Given the description of an element on the screen output the (x, y) to click on. 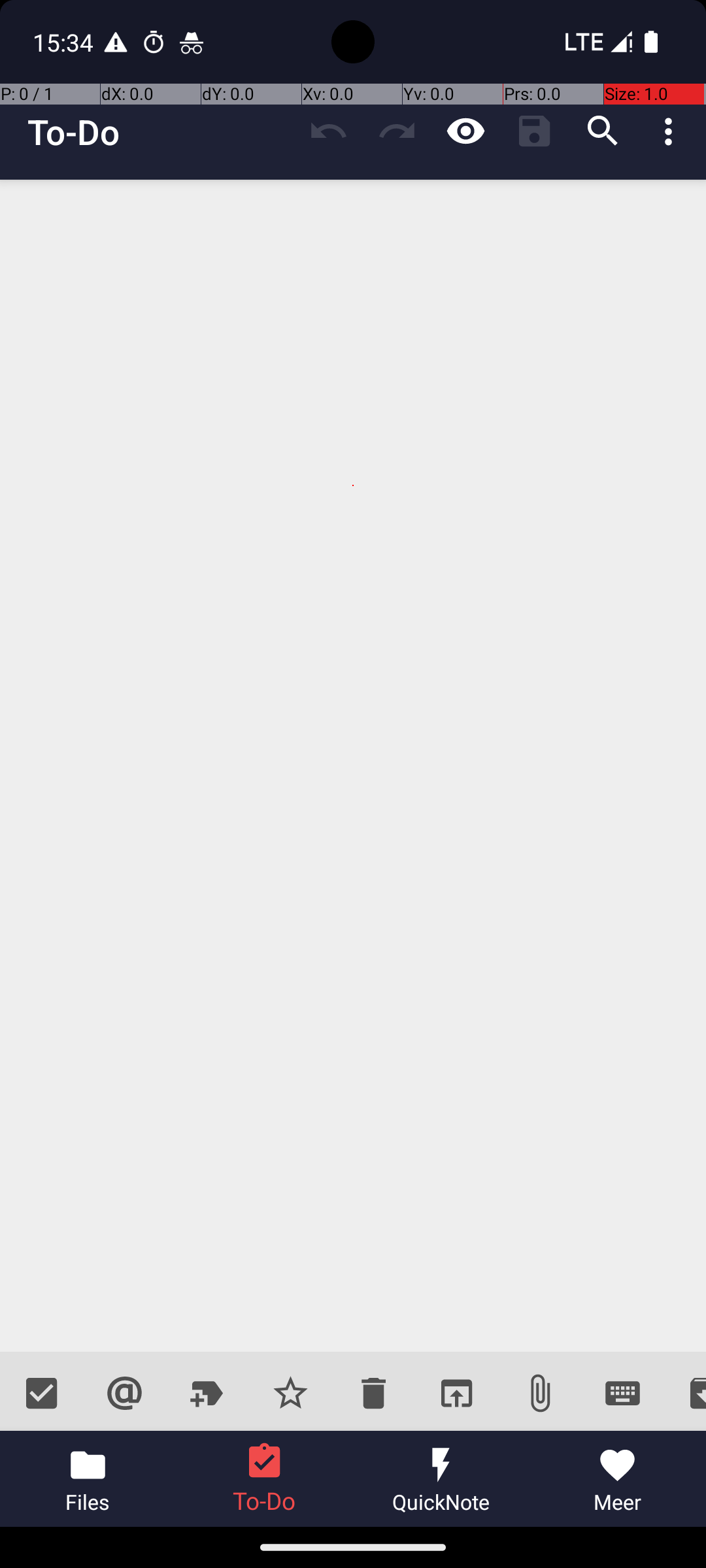
Soek Element type: android.widget.TextView (602, 131)
Meer opsies Element type: android.widget.ImageView (671, 131)
Meer Element type: android.widget.FrameLayout (617, 1478)
Toggle done Element type: android.widget.ImageView (41, 1392)
Add context Element type: android.widget.ImageView (124, 1392)
Add project Element type: android.widget.ImageView (207, 1392)
Priority Element type: android.widget.ImageView (290, 1392)
Archive completed tasks Element type: android.widget.ImageView (685, 1392)
Chrome notification: Incognito Tabs Element type: android.widget.ImageView (191, 41)
